Given the description of an element on the screen output the (x, y) to click on. 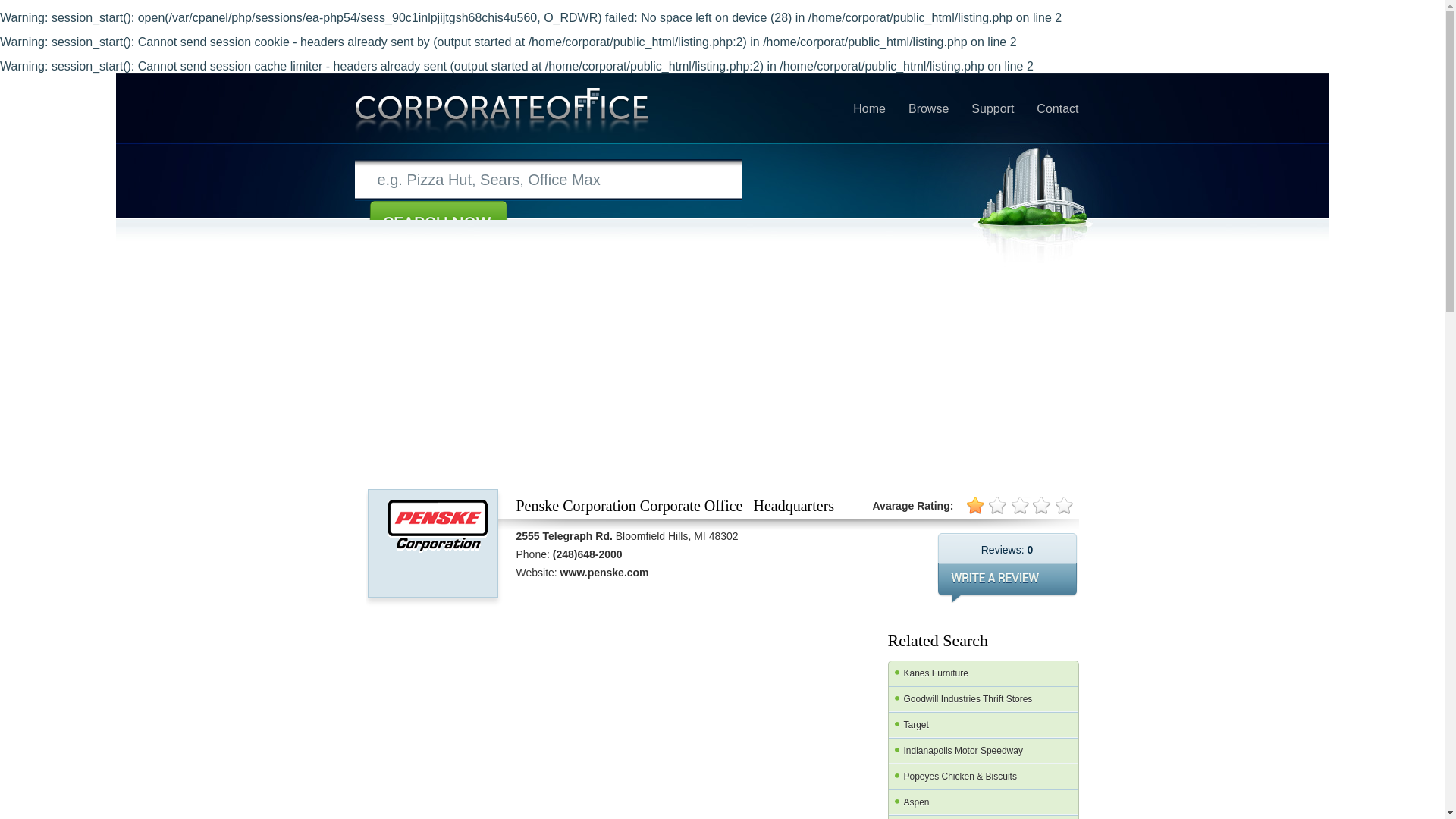
Freedom Mortgage Corporation (983, 817)
Contact (1057, 138)
Advertisement (724, 726)
Support (992, 138)
Target (983, 724)
Kanes Furniture (983, 673)
Indianapolis Motor Speedway (983, 750)
Aspen (983, 802)
Corporate Office (502, 112)
e.g. Pizza Hut, Sears, Office Max (548, 179)
www.penske.com (604, 572)
Advertisement (478, 726)
Goodwill Industries Thrift Stores (983, 699)
WRITE REVIEW (1007, 582)
